Given the description of an element on the screen output the (x, y) to click on. 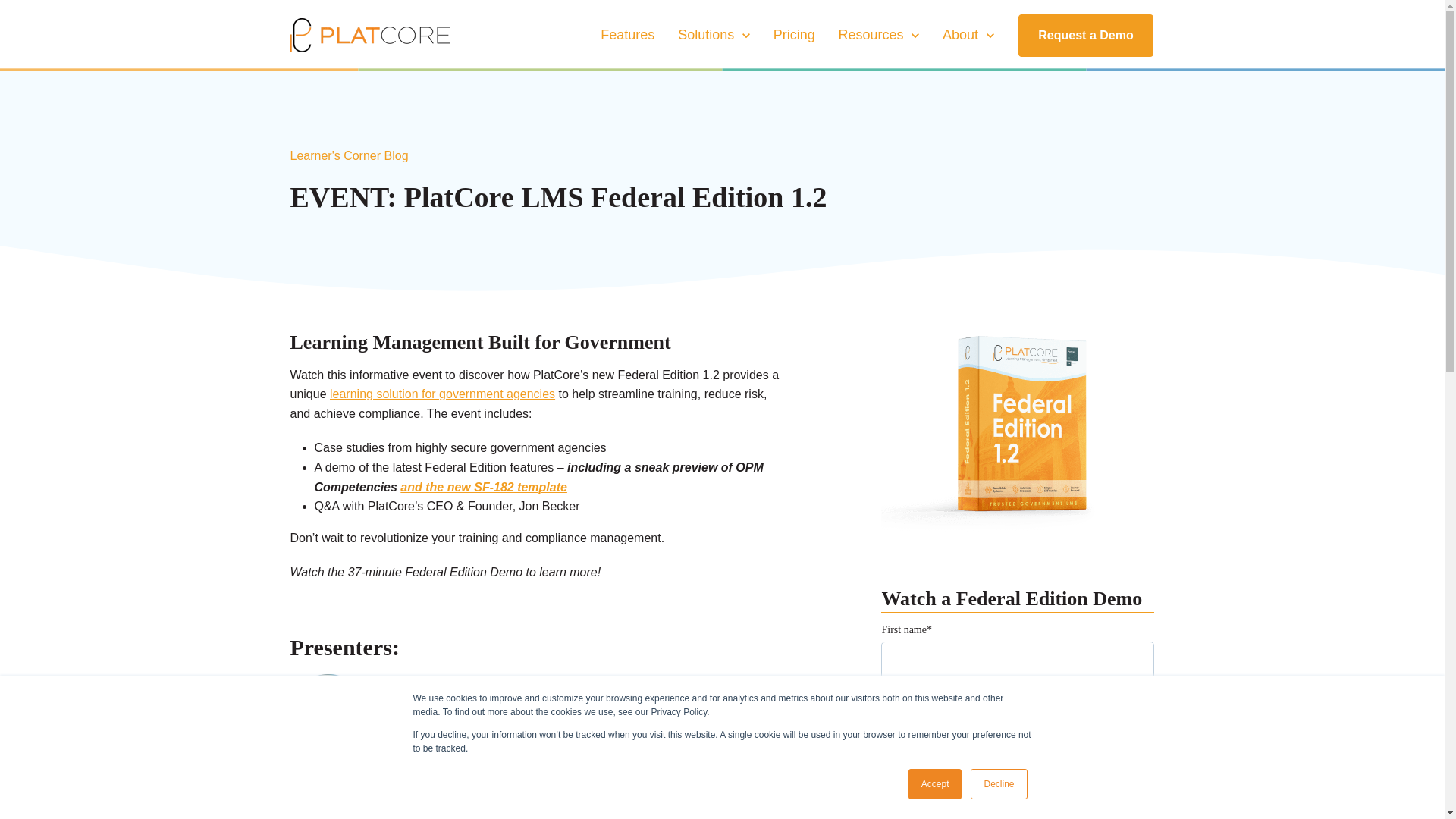
Decline (998, 784)
Features (627, 35)
Request a Demo (1085, 35)
Accept (935, 784)
Pricing (714, 35)
